Given the description of an element on the screen output the (x, y) to click on. 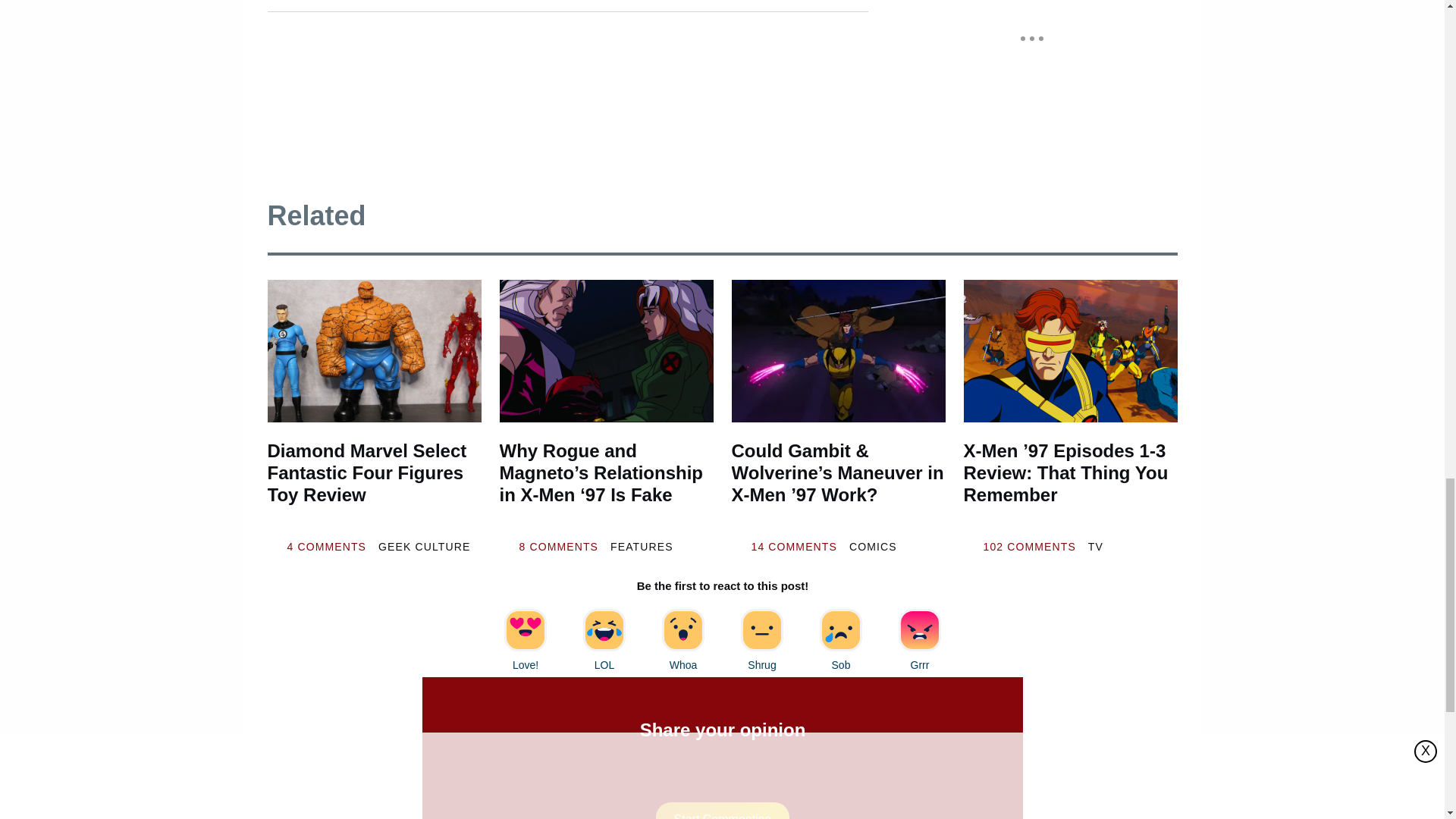
Pinterest (505, 2)
Diamond Marvel Select Fantastic Four Figures Toy Review (373, 351)
Facebook (377, 2)
Diamond Marvel Select Fantastic Four Figures Toy Review (373, 483)
Twitter (463, 2)
LinkedIn (420, 2)
